Given the description of an element on the screen output the (x, y) to click on. 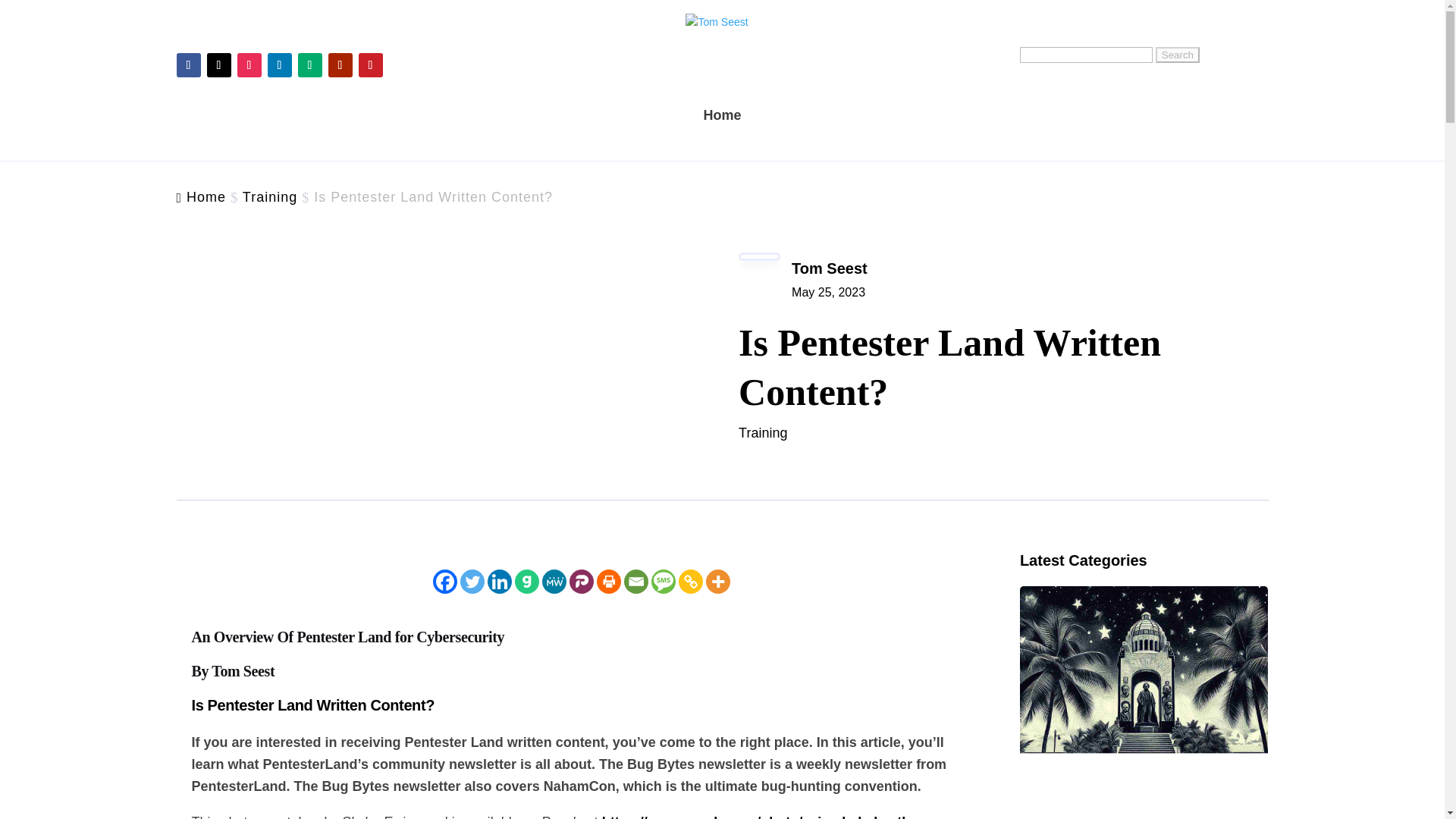
Print (608, 581)
Is Pentester Land Written Content? (311, 704)
Follow on Facebook (188, 64)
Follow on LinkedIn (278, 64)
Follow on Medium (309, 64)
Linkedin (499, 581)
Training (762, 432)
Follow on Pinterest (369, 64)
Home (205, 196)
Search (1177, 54)
MeWe (553, 581)
Twitter (472, 581)
Follow on X (218, 64)
Facebook (444, 581)
Follow on Instagram (247, 64)
